Given the description of an element on the screen output the (x, y) to click on. 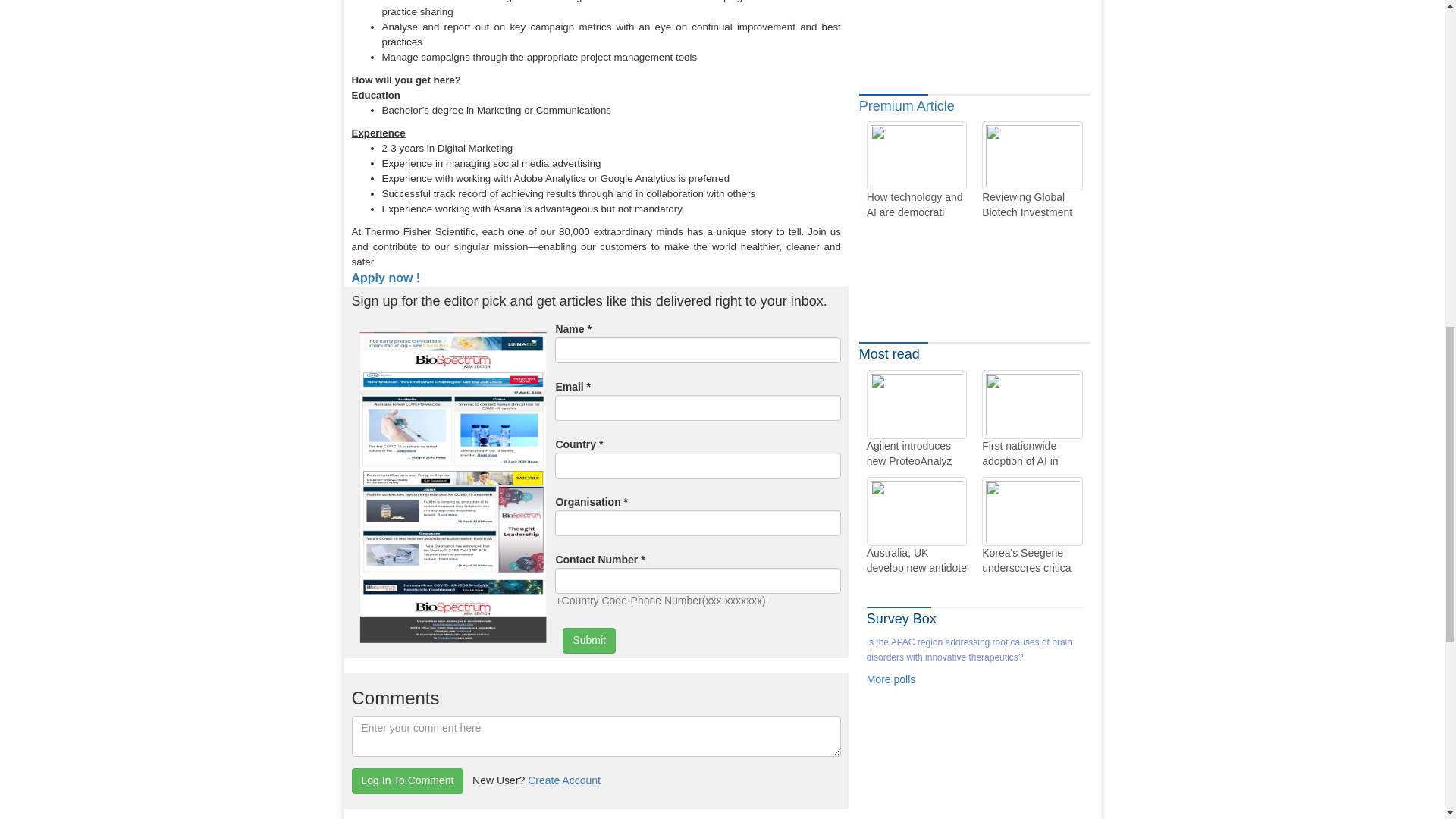
Reviewing Global Biotech Investment (1031, 170)
How technology and AI are democratising healthcare (916, 170)
